Given the description of an element on the screen output the (x, y) to click on. 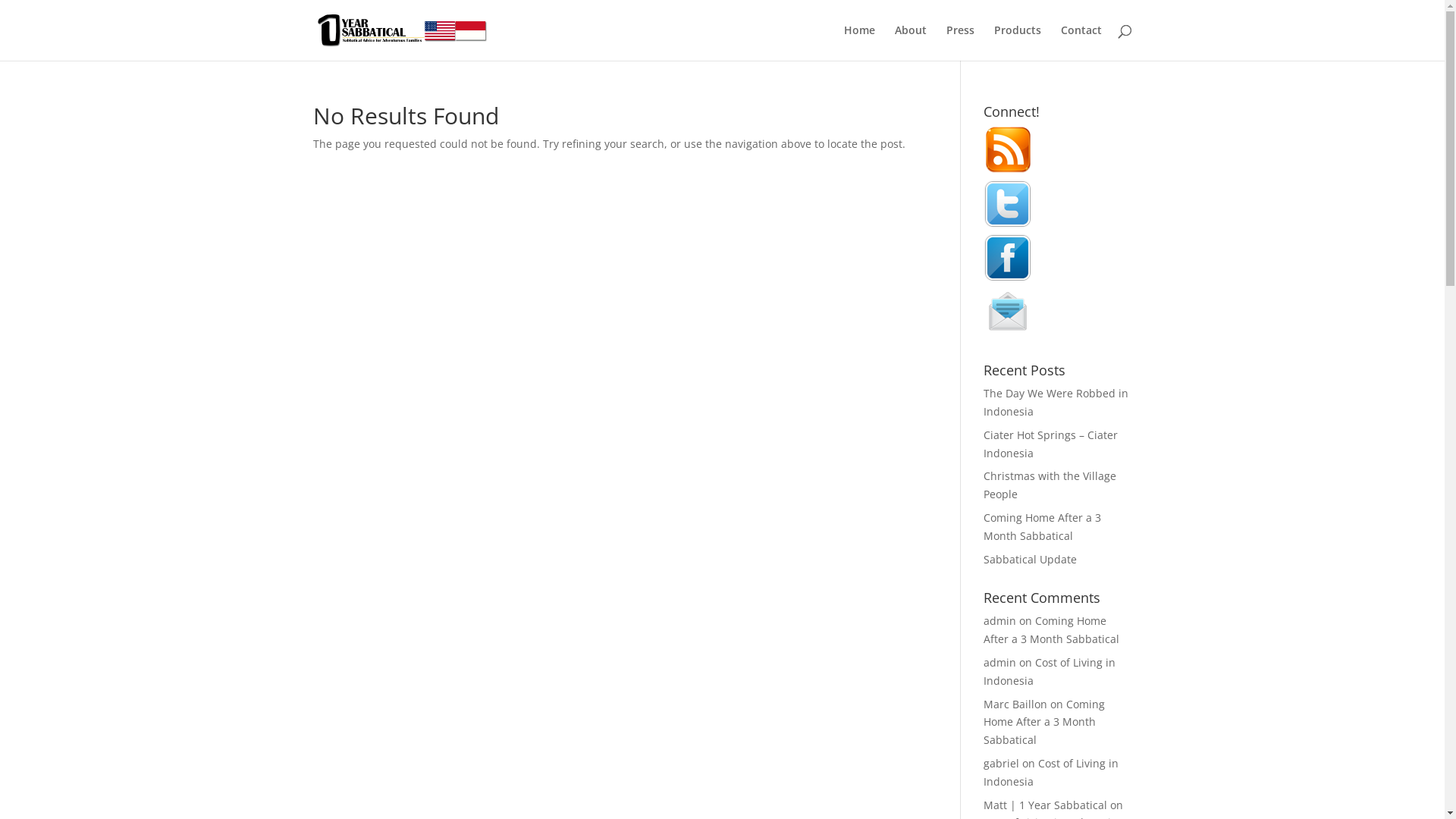
Products Element type: text (1016, 42)
Coming Home After a 3 Month Sabbatical Element type: text (1051, 629)
Coming Home After a 3 Month Sabbatical Element type: text (1042, 526)
Matt | 1 Year Sabbatical Element type: text (1045, 804)
Sabbatical Update Element type: text (1029, 559)
Contact Element type: text (1080, 42)
Cost of Living in Indonesia Element type: text (1050, 772)
About Element type: text (910, 42)
The Day We Were Robbed in Indonesia Element type: text (1055, 401)
Marc Baillon Element type: text (1015, 703)
Cost of Living in Indonesia Element type: text (1049, 671)
Home Element type: text (858, 42)
Press Element type: text (960, 42)
Coming Home After a 3 Month Sabbatical Element type: text (1043, 721)
Christmas with the Village People Element type: text (1049, 484)
